Given the description of an element on the screen output the (x, y) to click on. 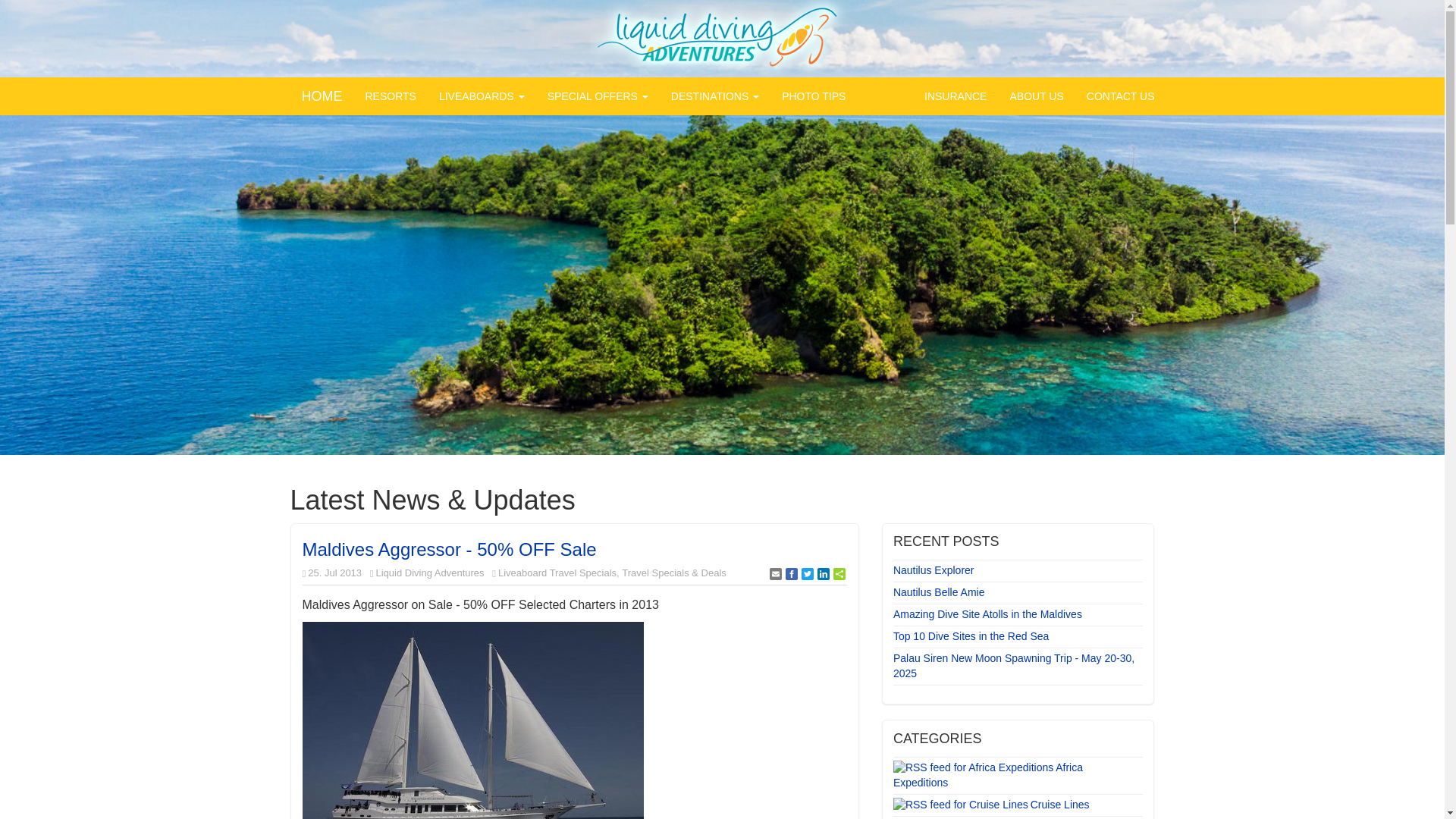
INSURANCE (954, 95)
Amazing Dive Site Atolls in the Maldives (1016, 614)
PHOTO TIPS (813, 95)
Africa Expeditions (988, 774)
Cruise Lines (1061, 804)
RESORTS (389, 95)
Liquid Diving Adventures (429, 572)
Liquid Diving Adventures (722, 38)
SPECIAL OFFERS (597, 95)
Nautilus Belle Amie (1016, 592)
ABOUT US (1035, 95)
LIVEABOARDS (481, 95)
Liveaboard Travel Specials (556, 572)
Palau Siren New Moon Spawning Trip - May 20-30, 2025 (1016, 666)
Category: Africa Expeditions (988, 774)
